Given the description of an element on the screen output the (x, y) to click on. 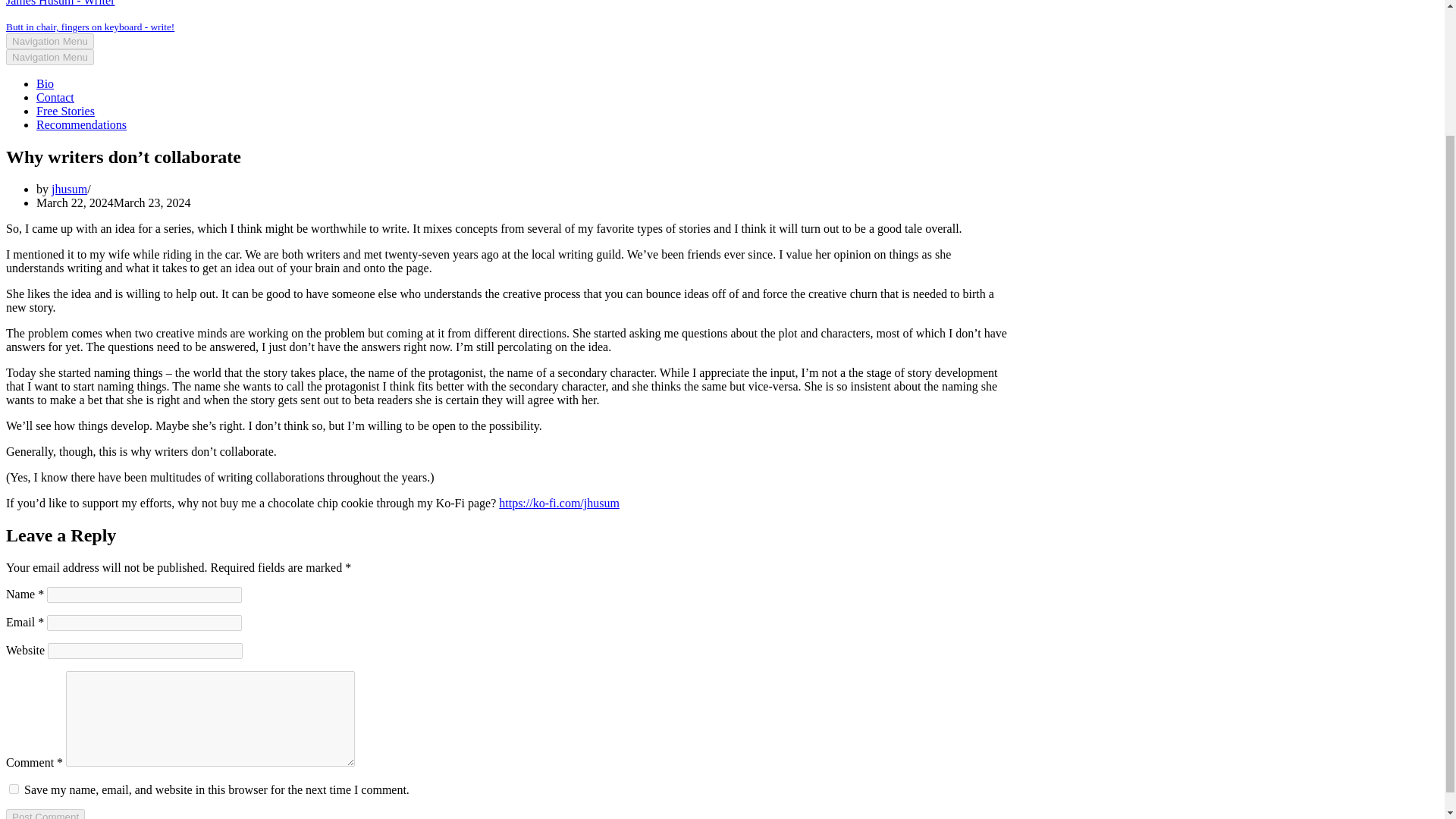
Contact (55, 97)
Navigation Menu (49, 57)
Free Stories (65, 110)
jhusum (68, 188)
Bio (44, 83)
yes (13, 788)
Recommendations (81, 124)
Posts by jhusum (68, 188)
Navigation Menu (49, 41)
